Given the description of an element on the screen output the (x, y) to click on. 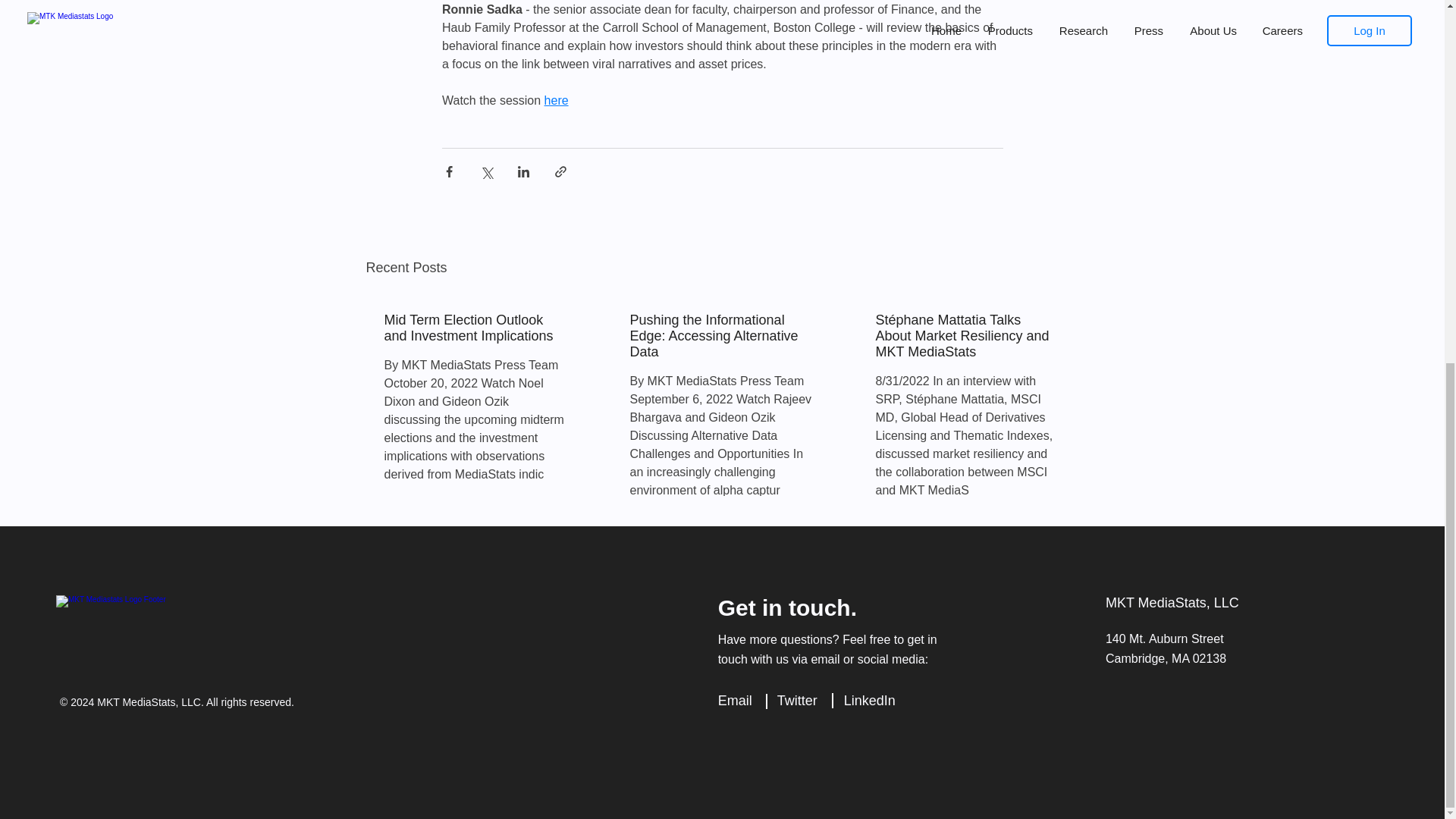
140 Mt. Auburn Street Cambridge, MA 02138 (1165, 648)
LinkedIn (869, 700)
Pushing the Informational Edge: Accessing Alternative Data (720, 336)
Twitter (796, 700)
here (555, 100)
Mid Term Election Outlook and Investment Implications (475, 327)
Email (734, 700)
